Given the description of an element on the screen output the (x, y) to click on. 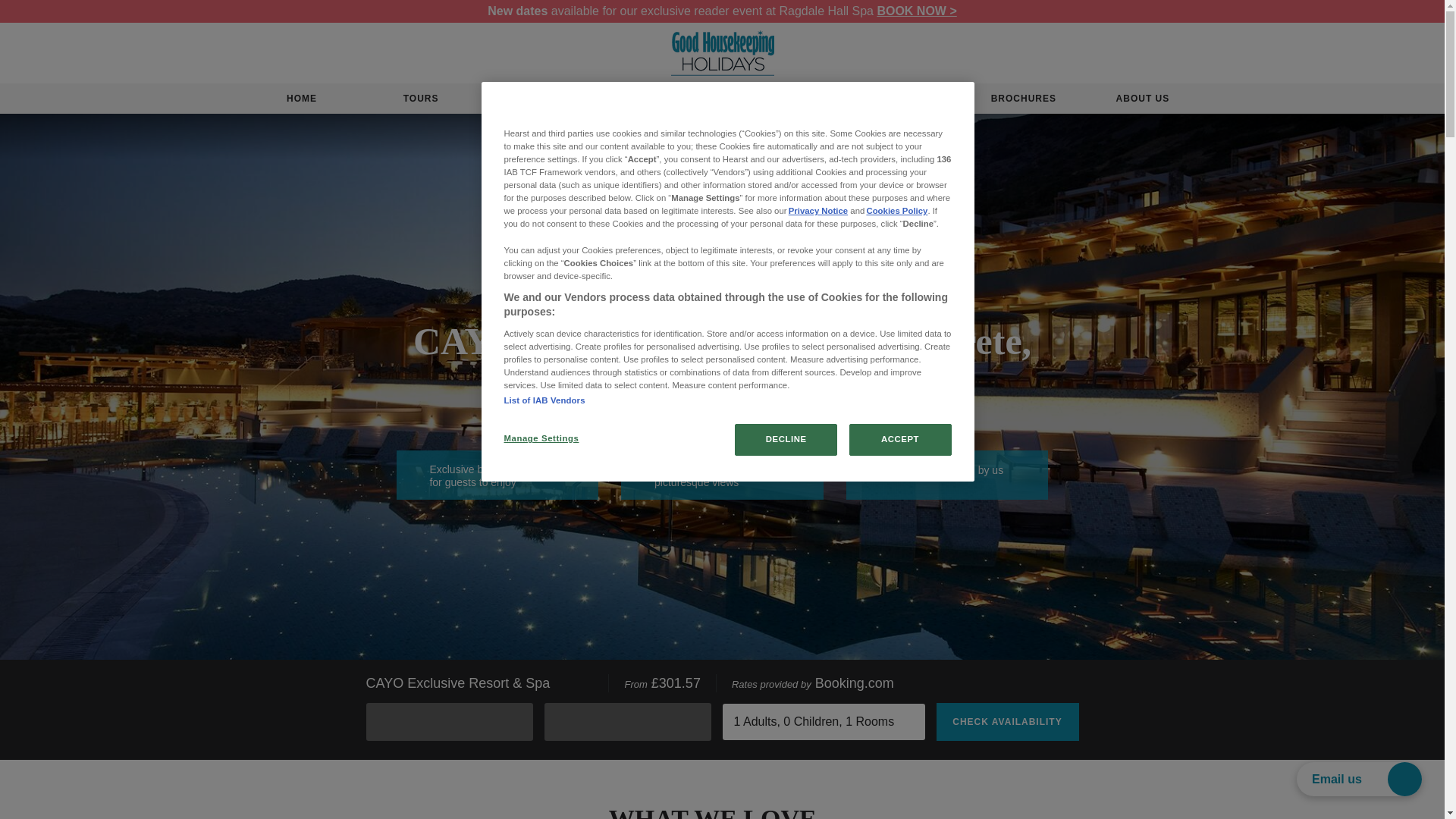
TRAVEL INSPIRATION (900, 98)
CHECK AVAILABILITY (1007, 721)
TOURS (420, 98)
THE DETAILS (721, 137)
1 Adults, 0 Children, 1 Rooms (823, 721)
BROCHURES (1023, 98)
SHORT BREAKS (540, 98)
AVAILABILITY (847, 137)
HOME (301, 98)
CRUISES (777, 98)
OVERVIEW (596, 137)
ABOUT US (1141, 98)
HOTEL REVIEWS (659, 98)
